Given the description of an element on the screen output the (x, y) to click on. 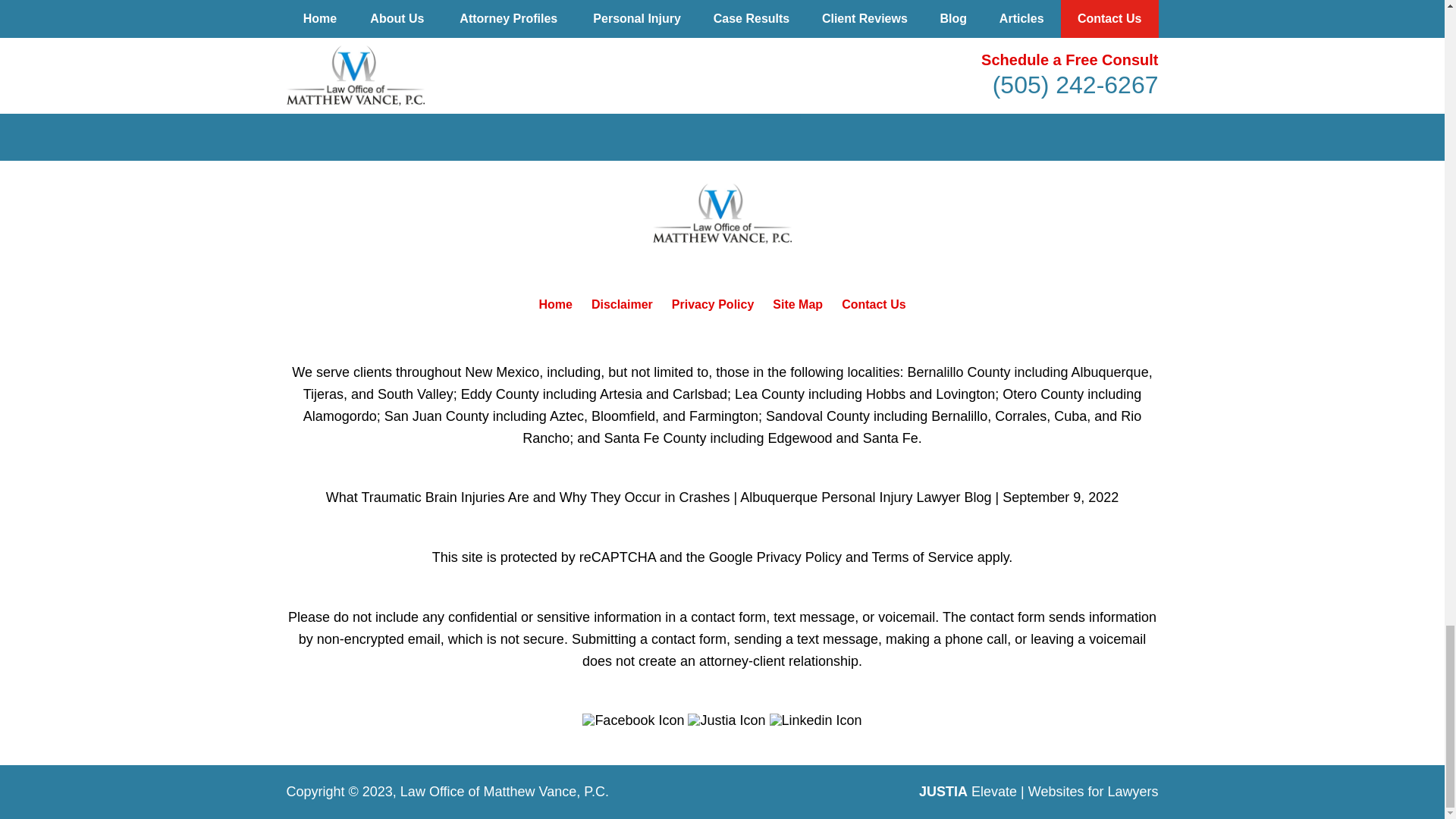
Facebook (633, 720)
Justia (726, 720)
Linkedin (815, 720)
